Given the description of an element on the screen output the (x, y) to click on. 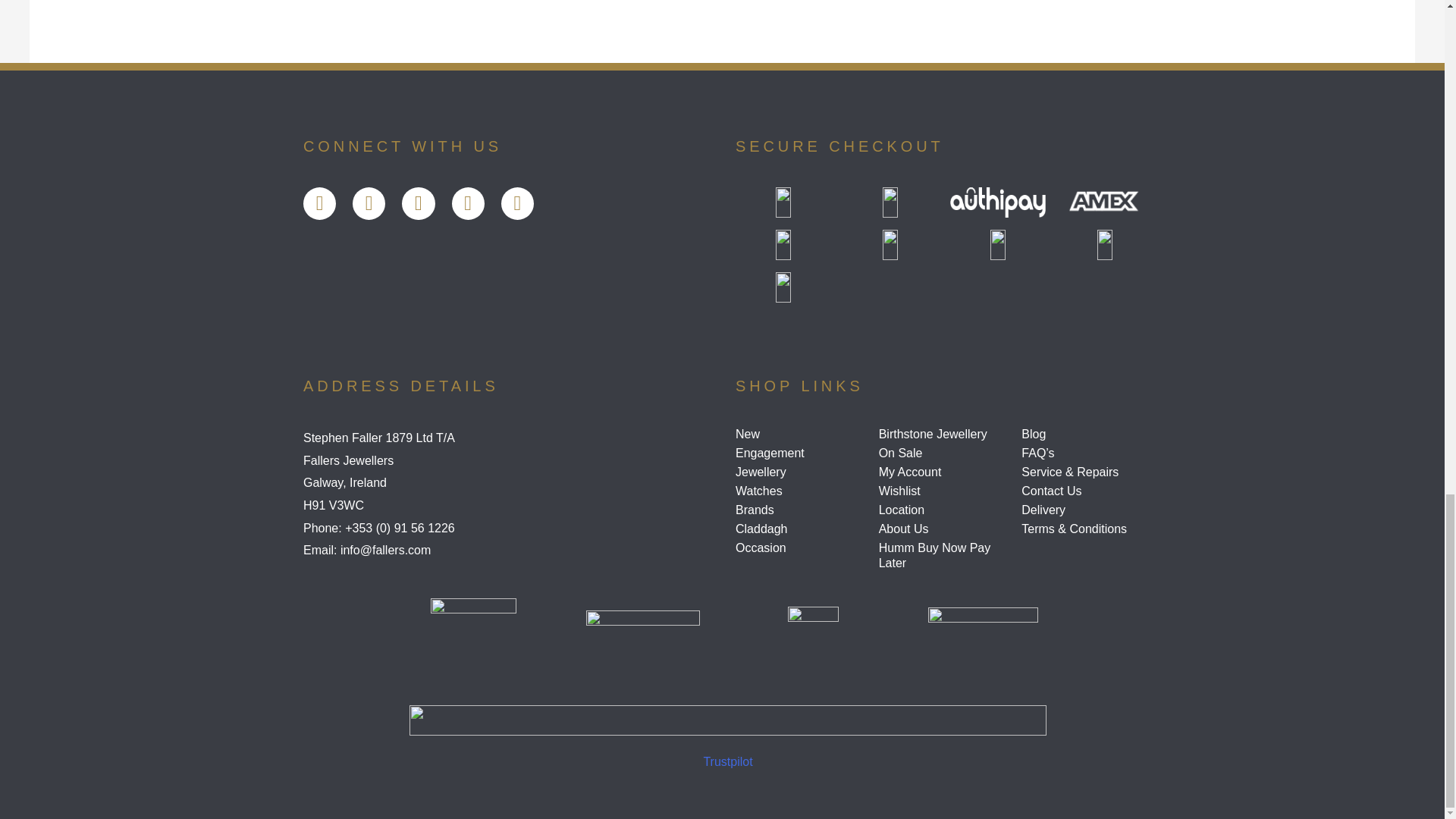
Instagram (467, 203)
Youtube (417, 203)
Watches (800, 491)
Engagement (800, 453)
Twitter (368, 203)
Pinterest (517, 203)
Jewellery (800, 472)
Facebook-f (319, 203)
Brands (800, 509)
New (800, 434)
